Given the description of an element on the screen output the (x, y) to click on. 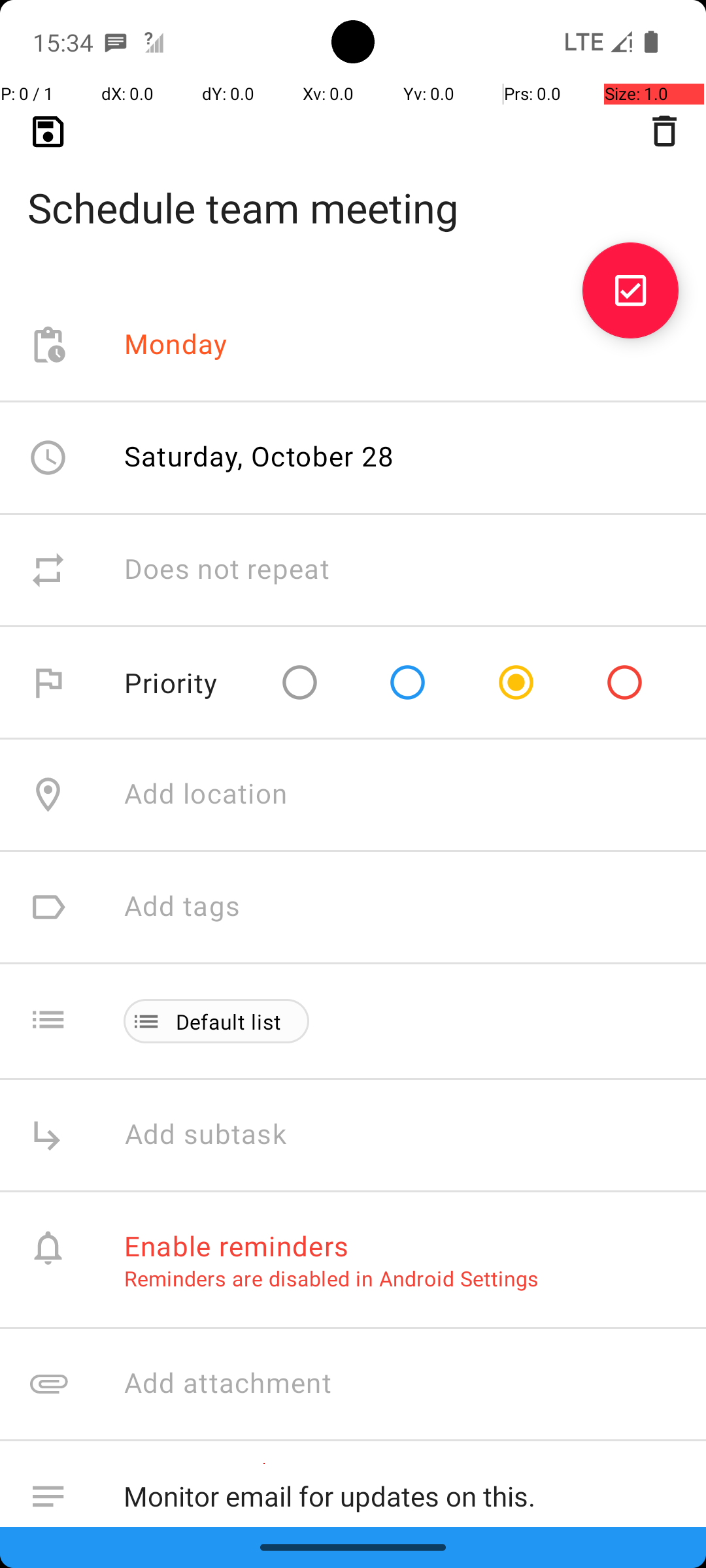
Schedule team meeting Element type: android.widget.EditText (353, 186)
Saturday, October 28 Element type: android.widget.TextView (258, 455)
Monitor email for updates on this. Element type: android.widget.EditText (400, 1493)
